Given the description of an element on the screen output the (x, y) to click on. 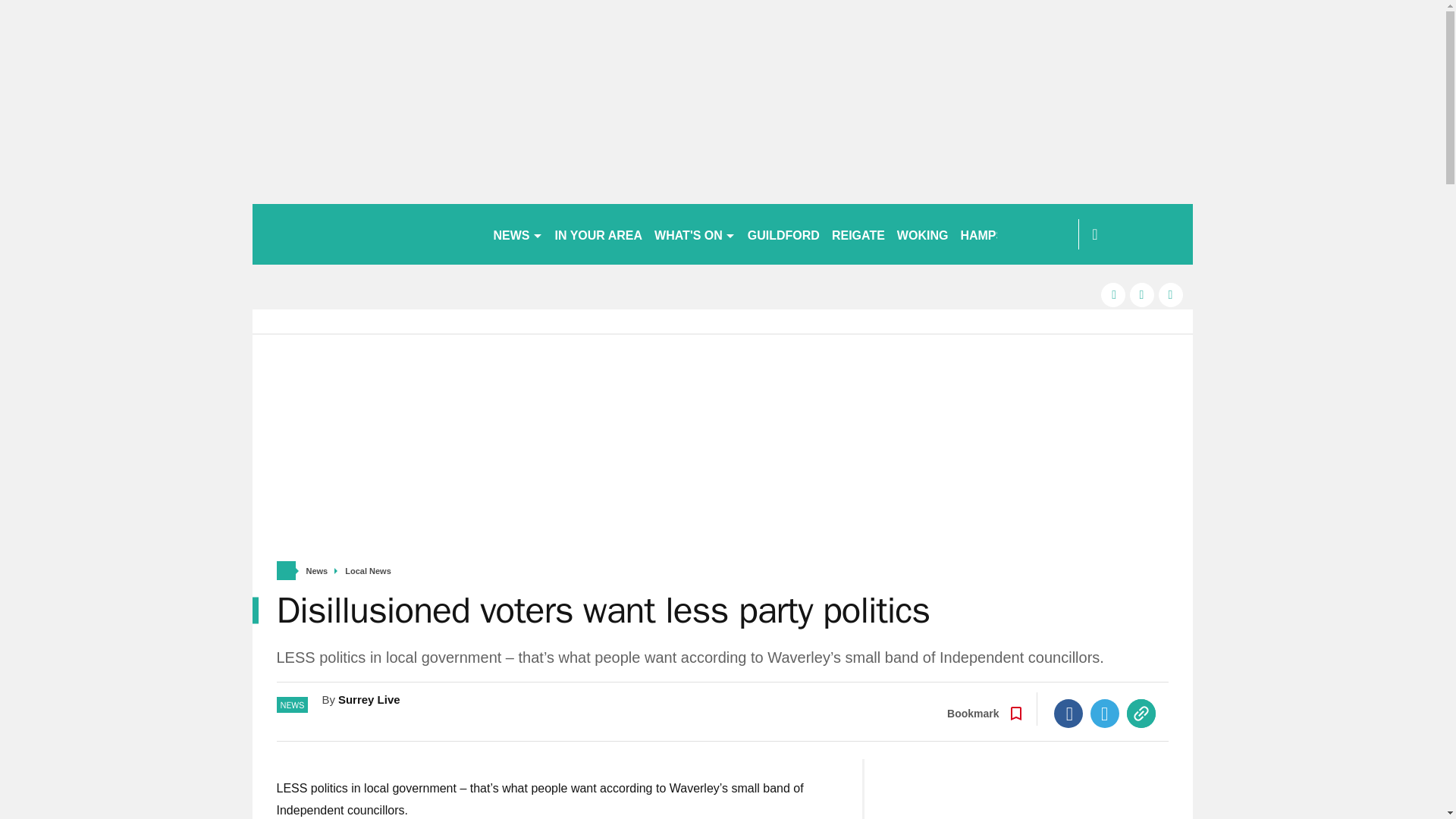
Twitter (1104, 713)
NEWS (517, 233)
twitter (1141, 294)
WHAT'S ON (694, 233)
WOKING (923, 233)
GUILDFORD (783, 233)
Facebook (1068, 713)
HAMPSHIRE (996, 233)
instagram (1170, 294)
IN YOUR AREA (598, 233)
facebook (1112, 294)
REIGATE (858, 233)
getsurrey (365, 233)
